Given the description of an element on the screen output the (x, y) to click on. 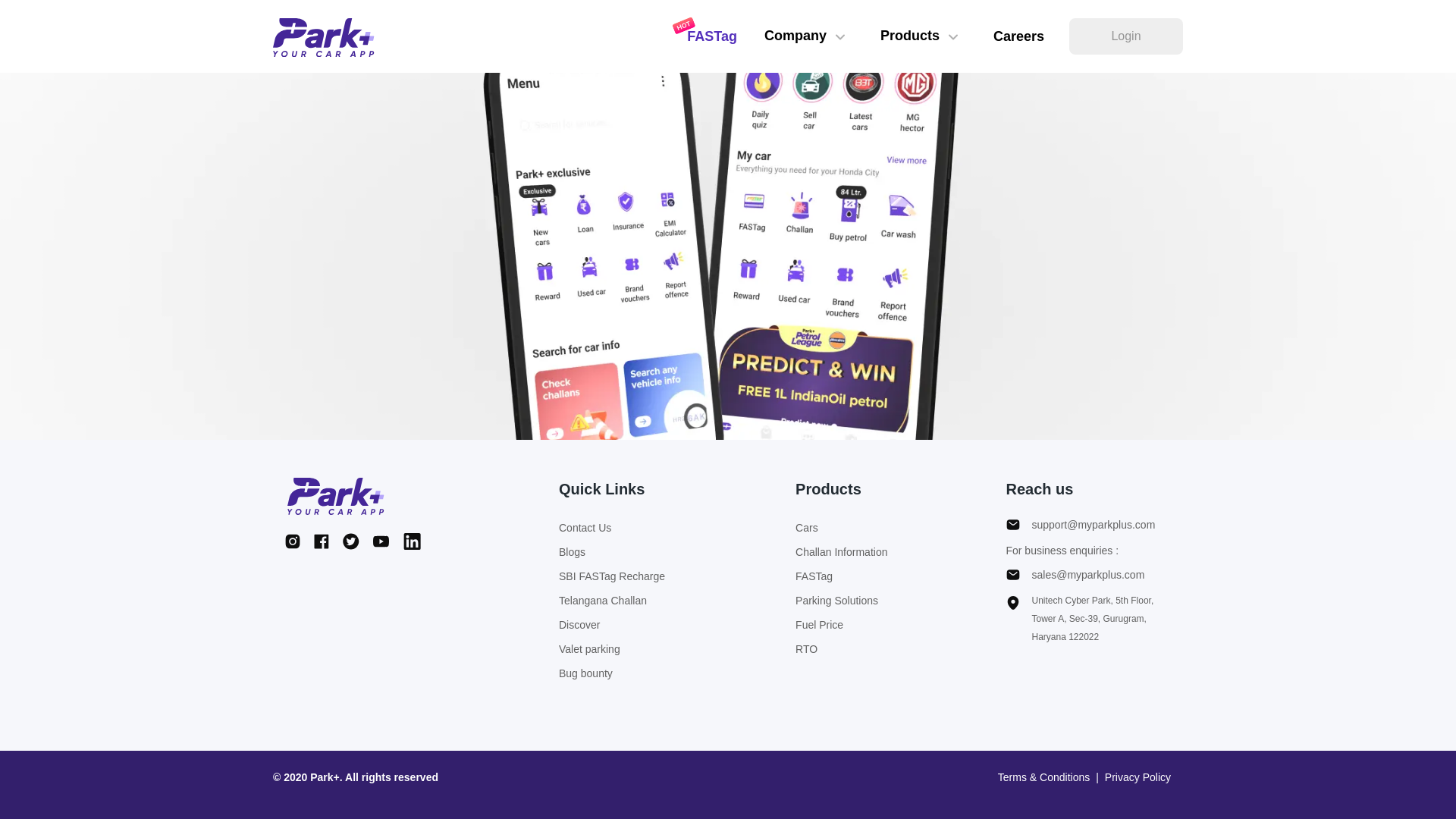
Telangana Challan (612, 600)
Contact Us (612, 527)
SBI FASTag Recharge (612, 576)
Blogs (612, 551)
